Given the description of an element on the screen output the (x, y) to click on. 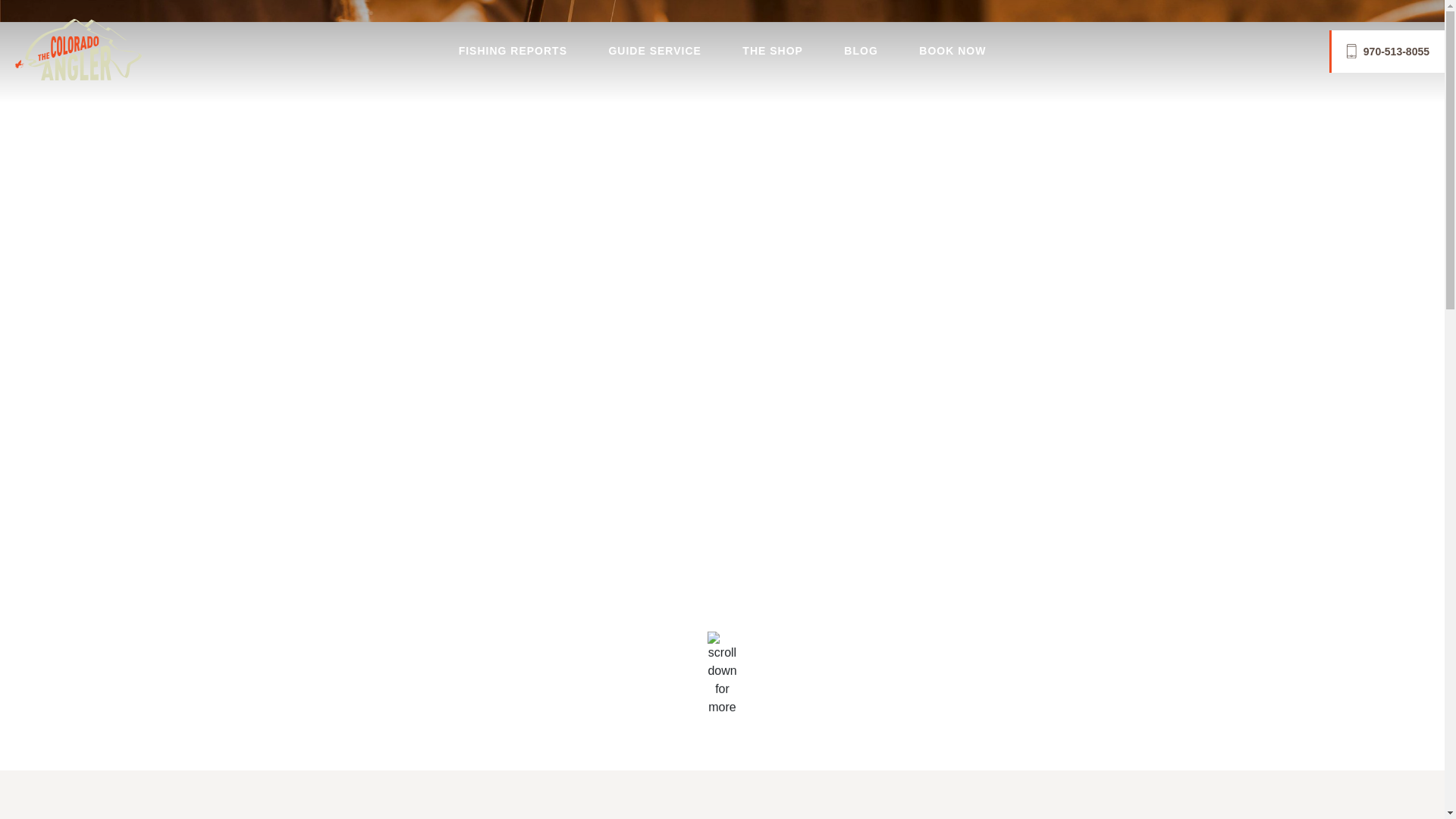
FISHING REPORTS (512, 51)
BOOK NOW (951, 51)
GUIDE SERVICE (654, 51)
THE SHOP (772, 51)
